Given the description of an element on the screen output the (x, y) to click on. 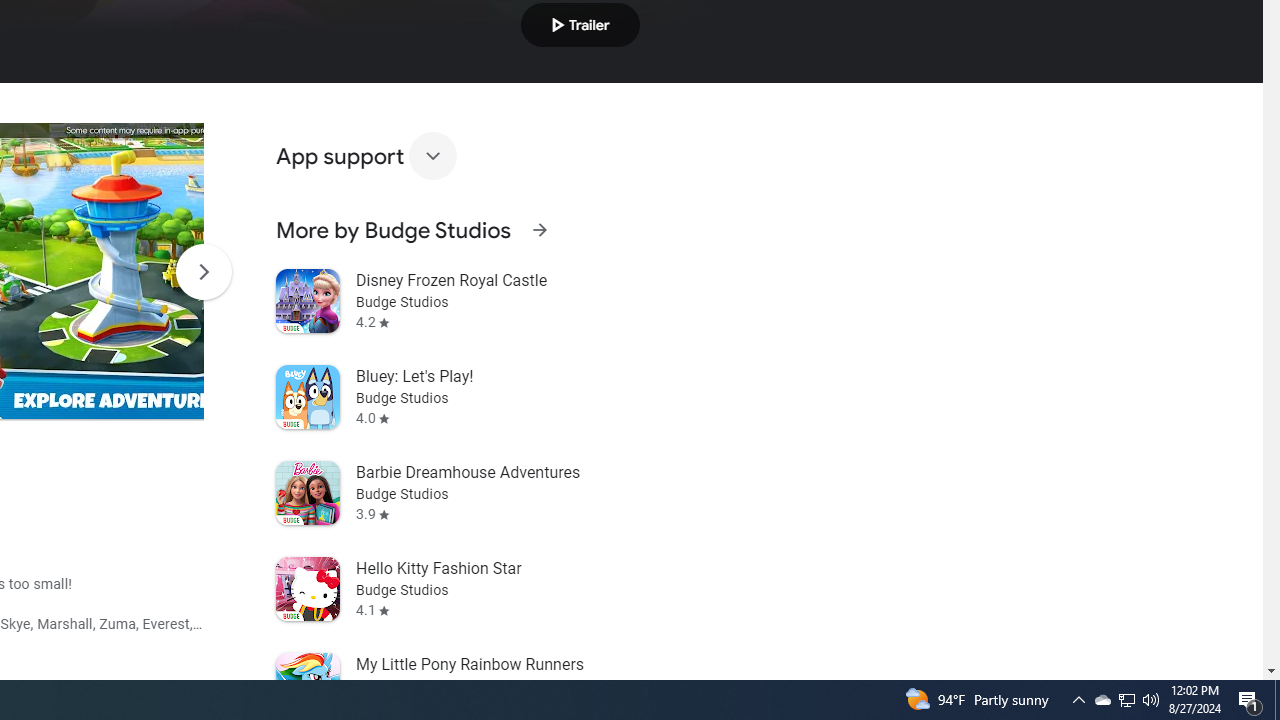
Expand (432, 155)
Play trailer (580, 24)
Scroll Next (203, 272)
See more information on More by Budge Studios (539, 229)
